Given the description of an element on the screen output the (x, y) to click on. 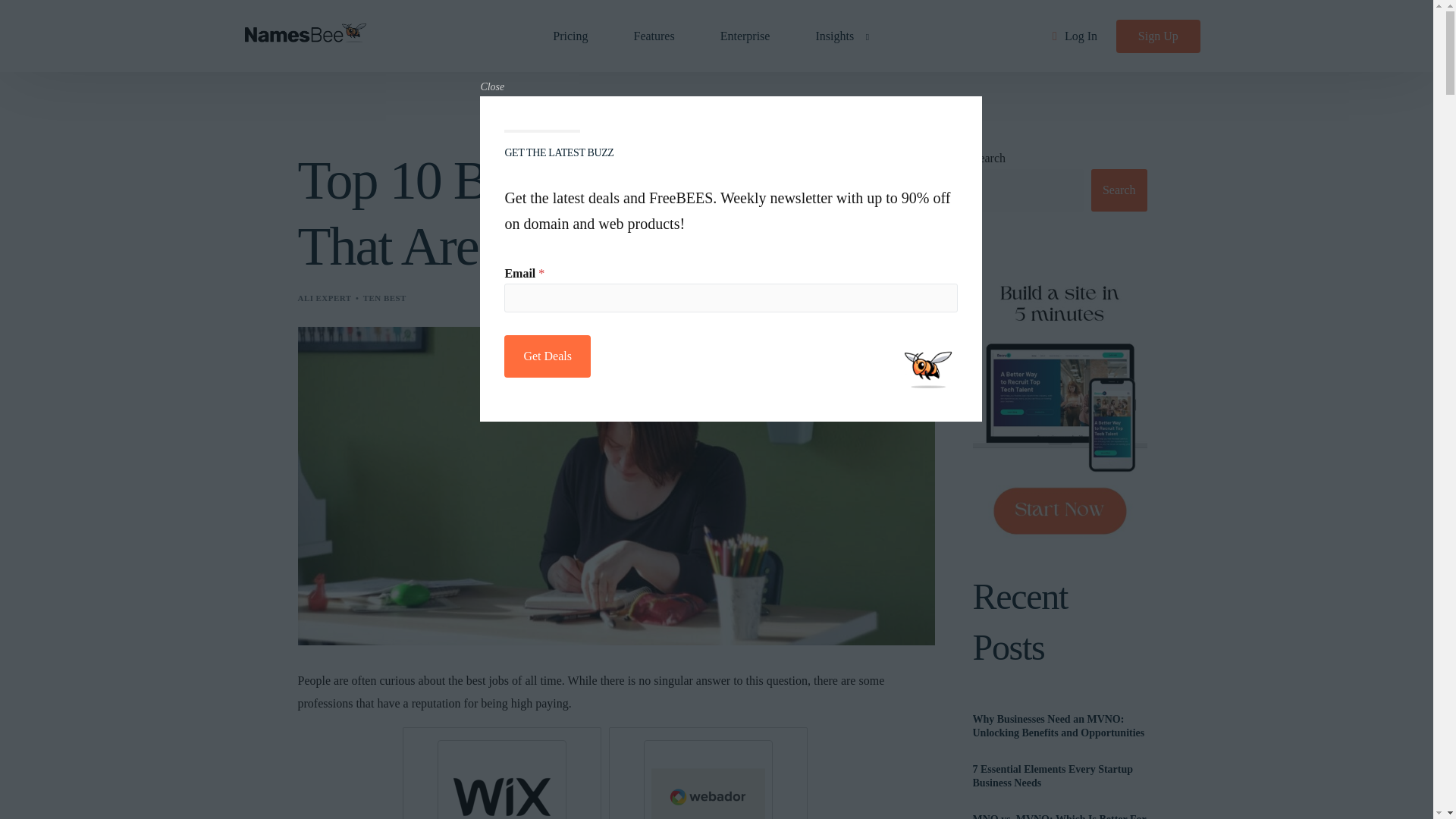
Get Deals (547, 355)
ALI EXPERT (323, 297)
Posts by Ali Expert (323, 297)
Pricing (569, 36)
Sign Up (1157, 36)
Features (653, 36)
TEN BEST (384, 297)
Enterprise (745, 36)
Insights (837, 36)
